Given the description of an element on the screen output the (x, y) to click on. 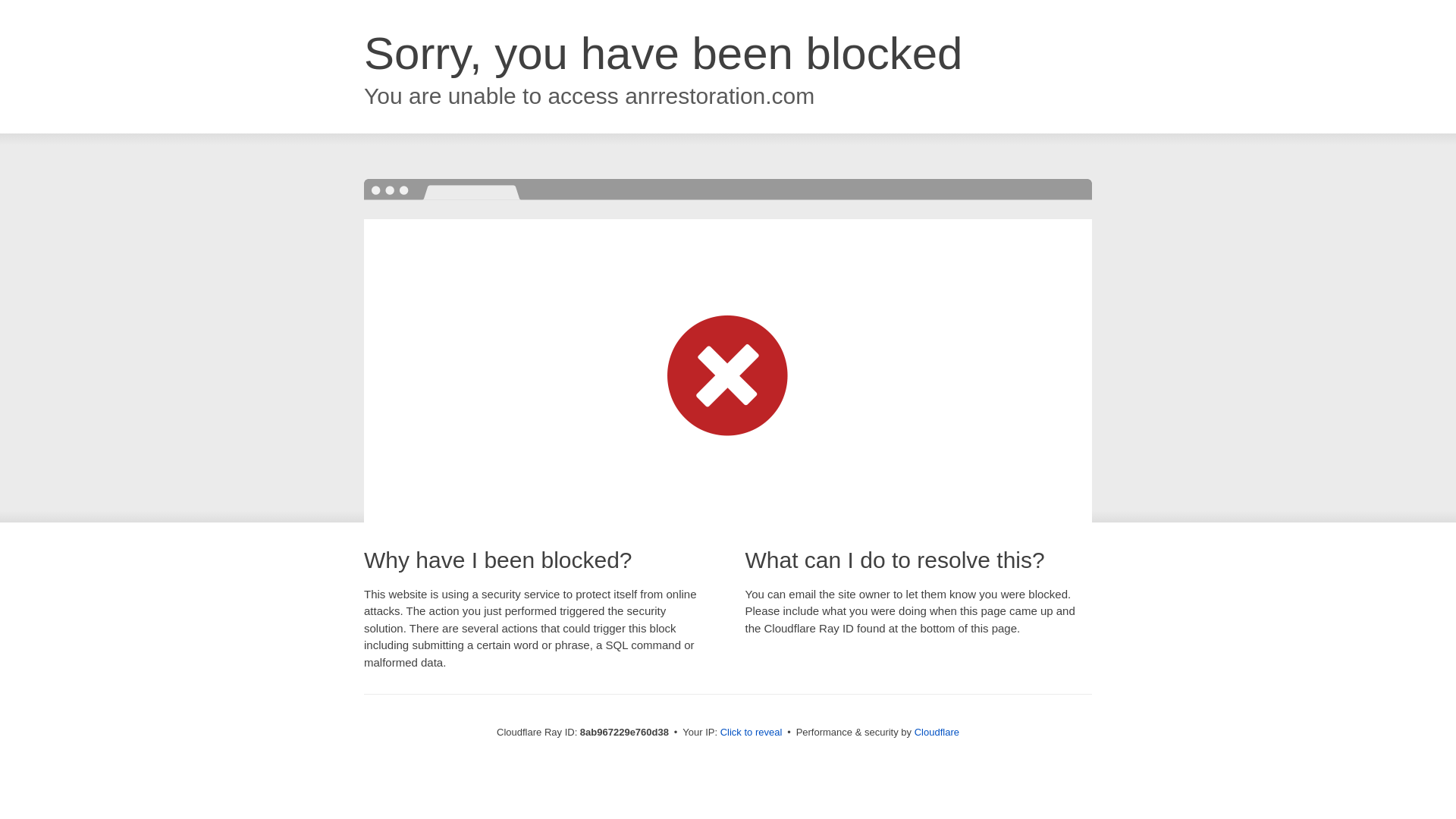
Click to reveal (751, 732)
Cloudflare (936, 731)
